Given the description of an element on the screen output the (x, y) to click on. 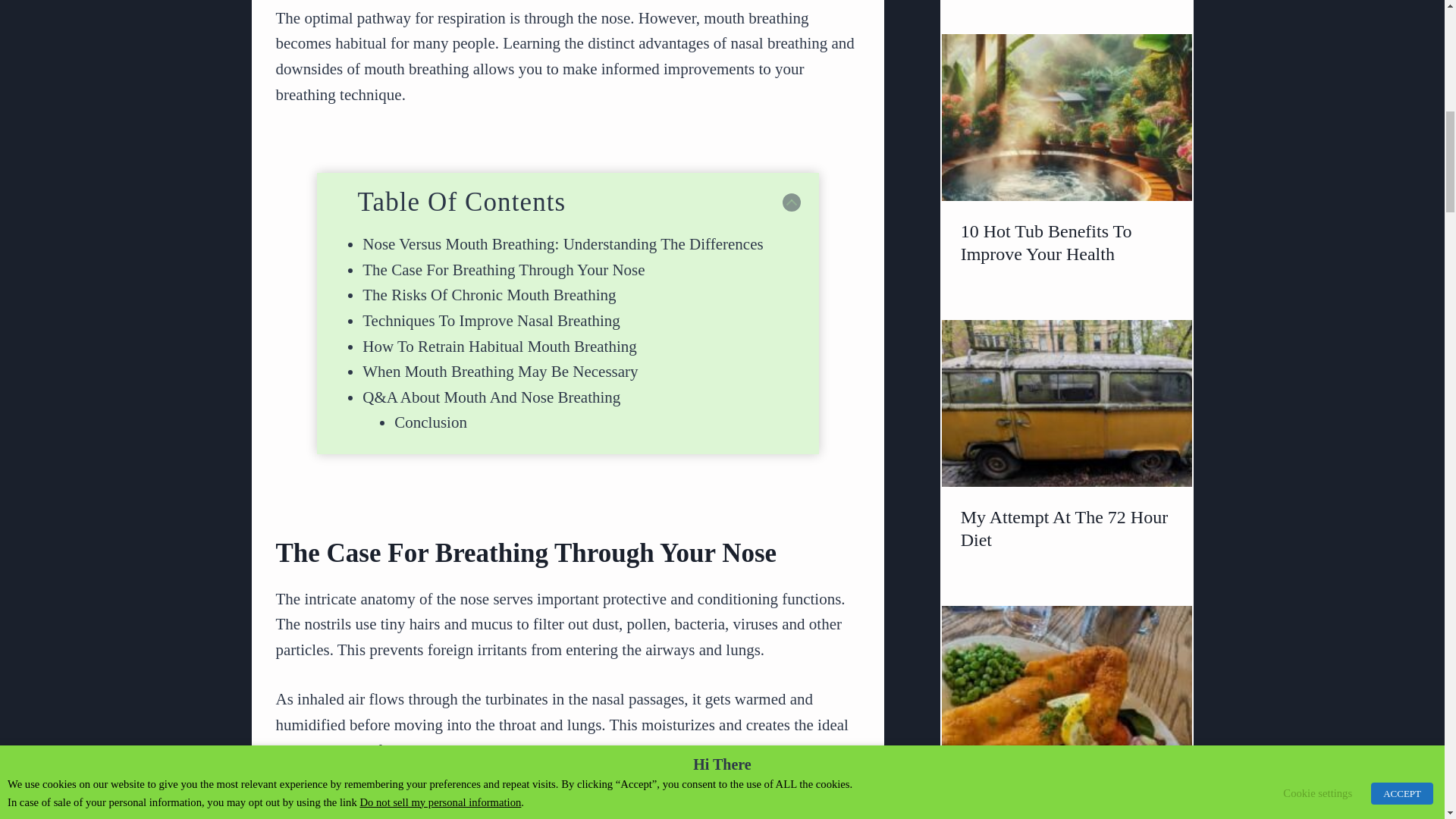
Conclusion (430, 422)
Techniques To Improve Nasal Breathing (491, 321)
When Mouth Breathing May Be Necessary (499, 371)
How To Retrain Habitual Mouth Breathing (499, 346)
Nose Versus Mouth Breathing: Understanding The Differences (562, 244)
The Case For Breathing Through Your Nose (503, 270)
The Risks Of Chronic Mouth Breathing (488, 294)
